Given the description of an element on the screen output the (x, y) to click on. 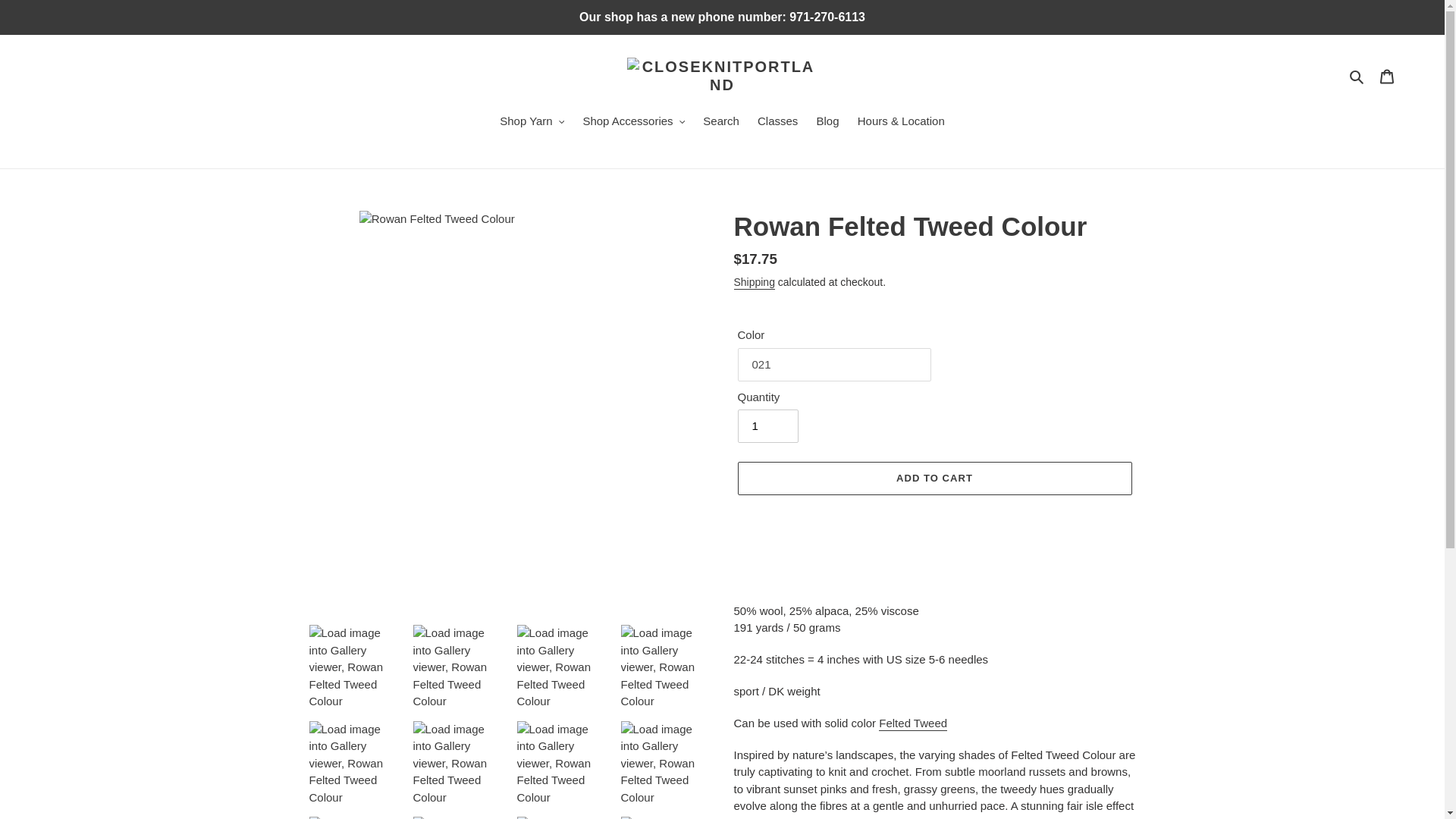
1 (766, 426)
Cart (1387, 75)
Search (1357, 75)
Felted Tweed (913, 723)
